Given the description of an element on the screen output the (x, y) to click on. 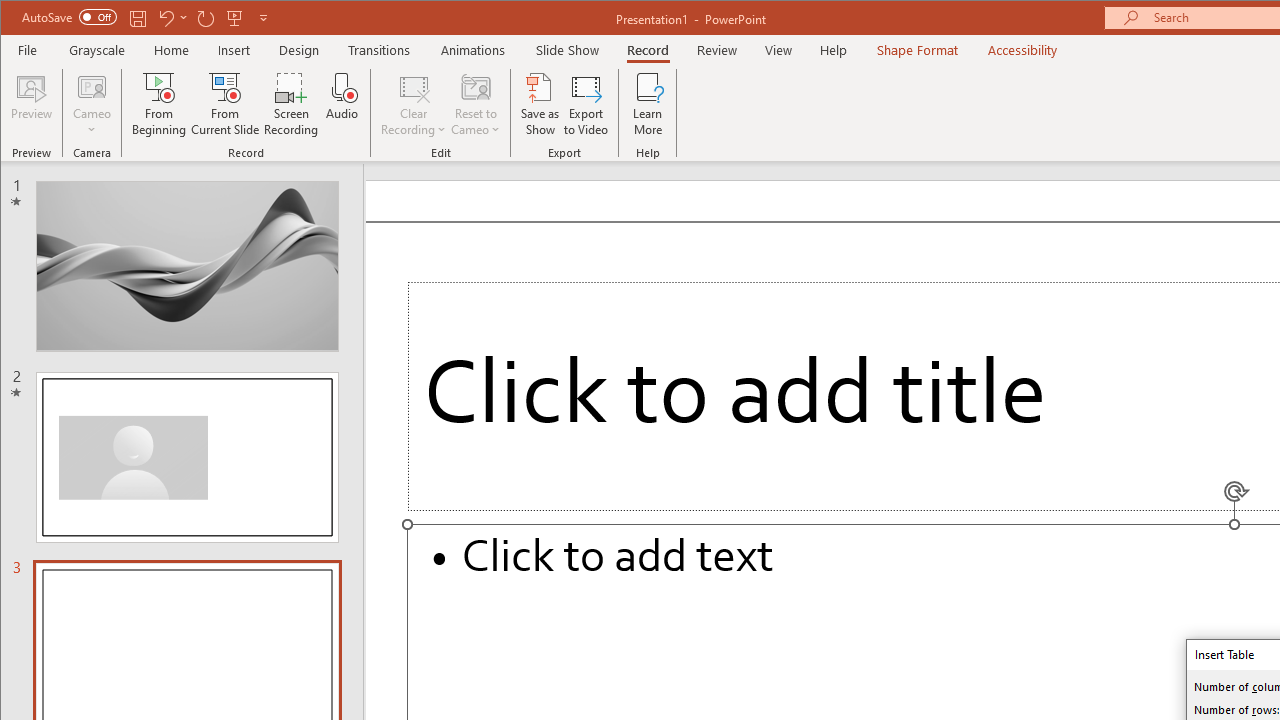
Clear Recording (413, 104)
Reset to Cameo (476, 104)
Learn More (648, 104)
Export to Video (585, 104)
Grayscale (97, 50)
From Current Slide... (225, 104)
